Given the description of an element on the screen output the (x, y) to click on. 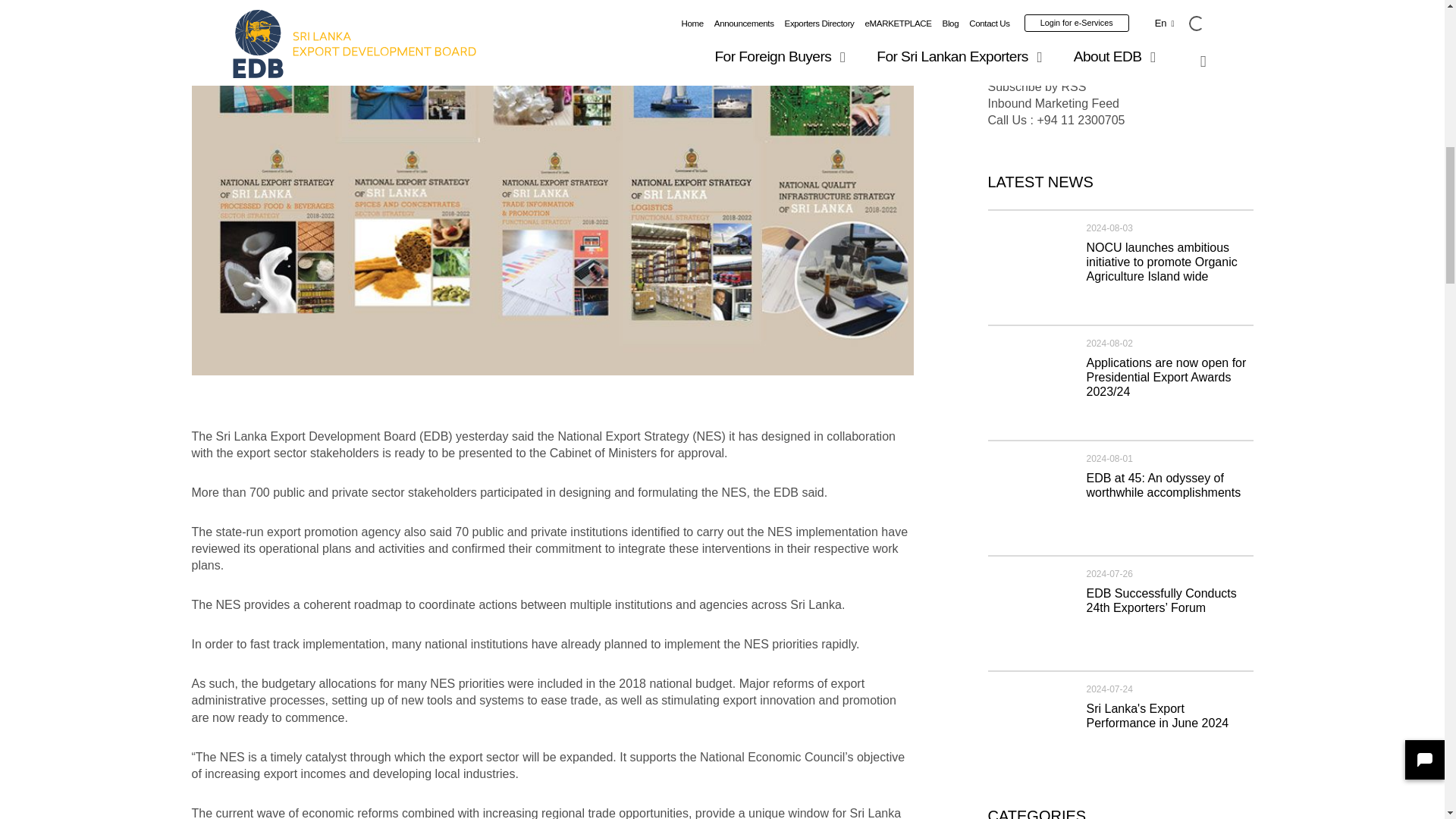
EDB at 45: An odyssey of worthwhile accomplishments (1028, 492)
EDB at 45: An odyssey of worthwhile accomplishments (1163, 484)
